Given the description of an element on the screen output the (x, y) to click on. 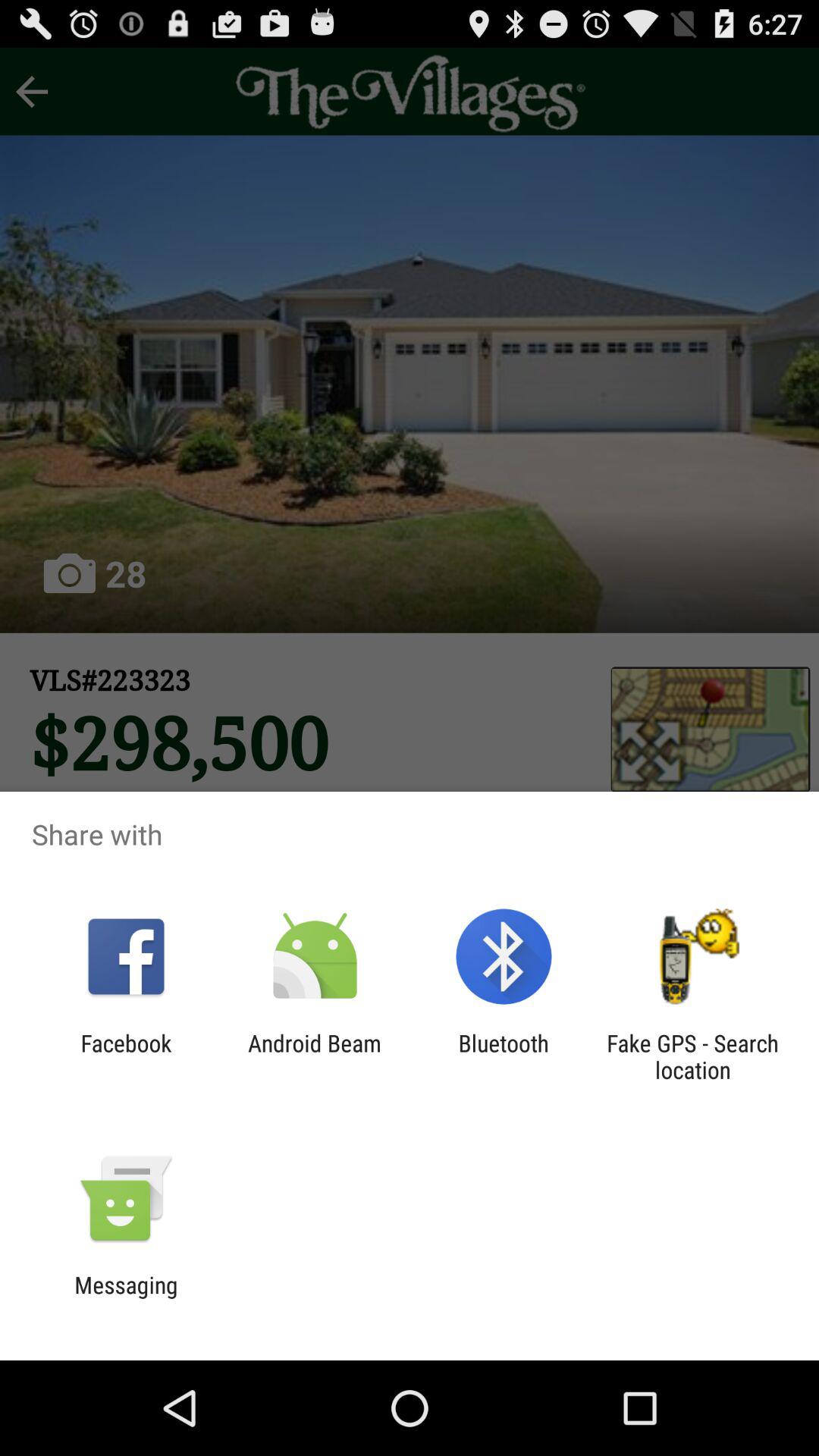
turn off icon to the left of fake gps search (503, 1056)
